Given the description of an element on the screen output the (x, y) to click on. 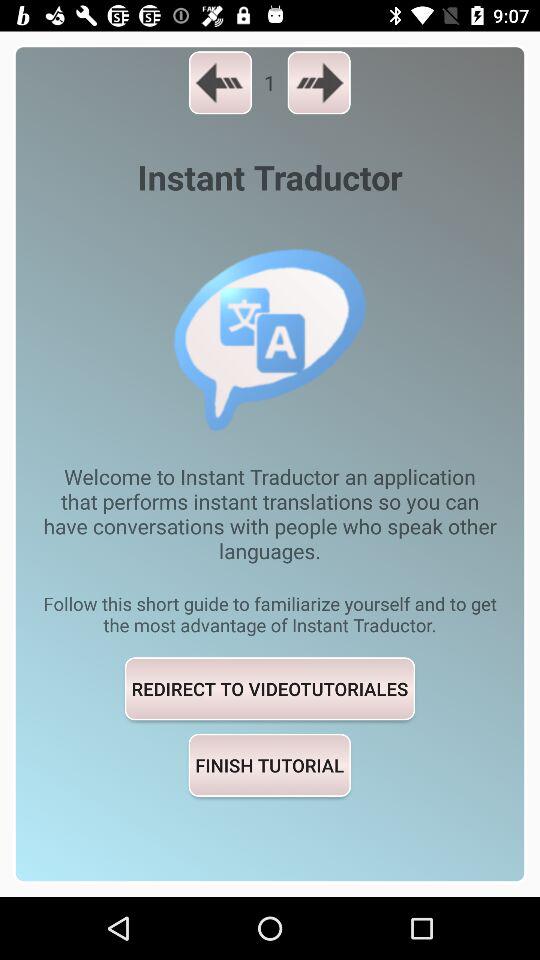
open icon next to  1  item (220, 82)
